Given the description of an element on the screen output the (x, y) to click on. 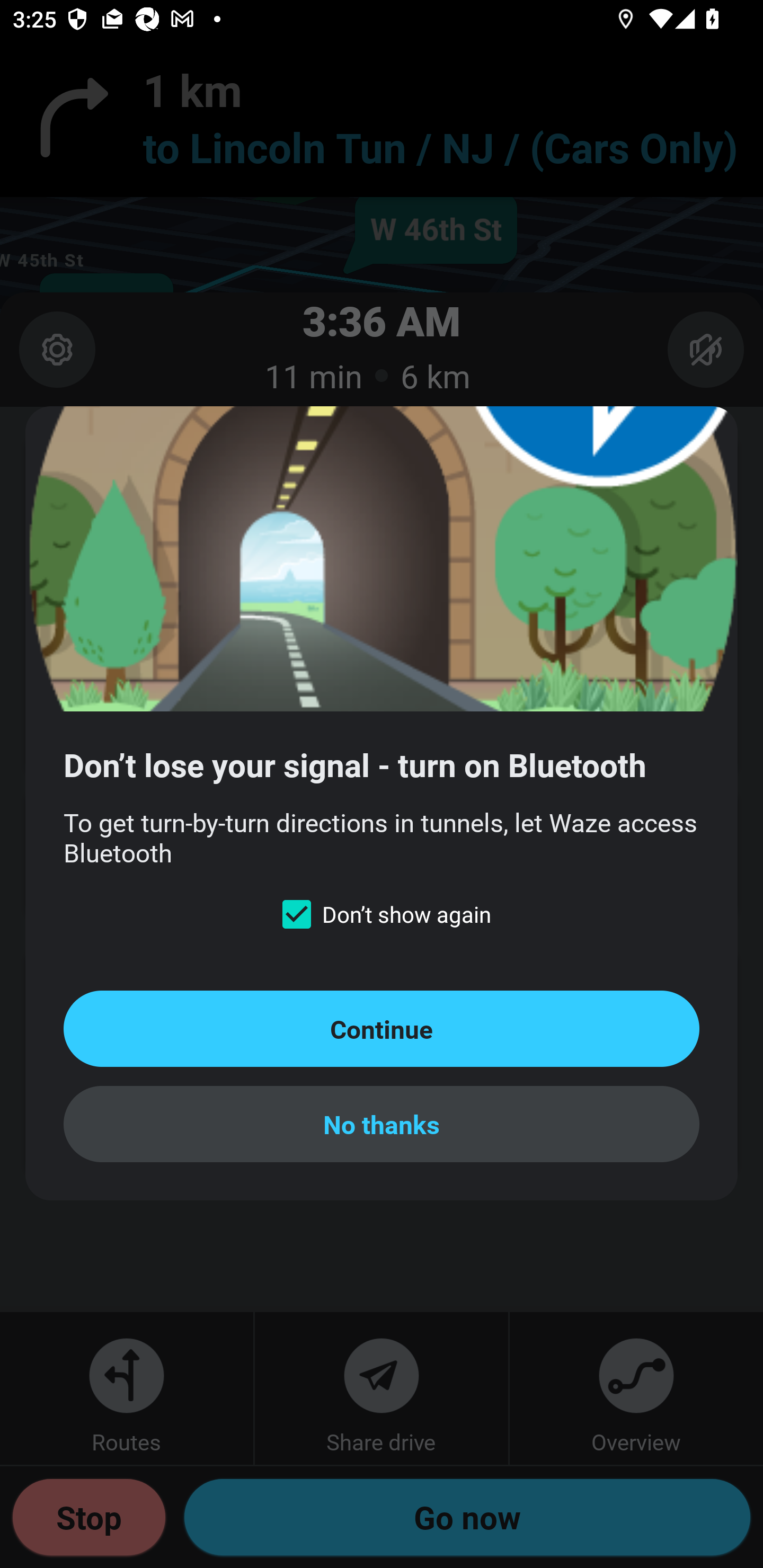
Don’t show again (381, 913)
Continue (381, 1028)
No thanks (381, 1123)
